Given the description of an element on the screen output the (x, y) to click on. 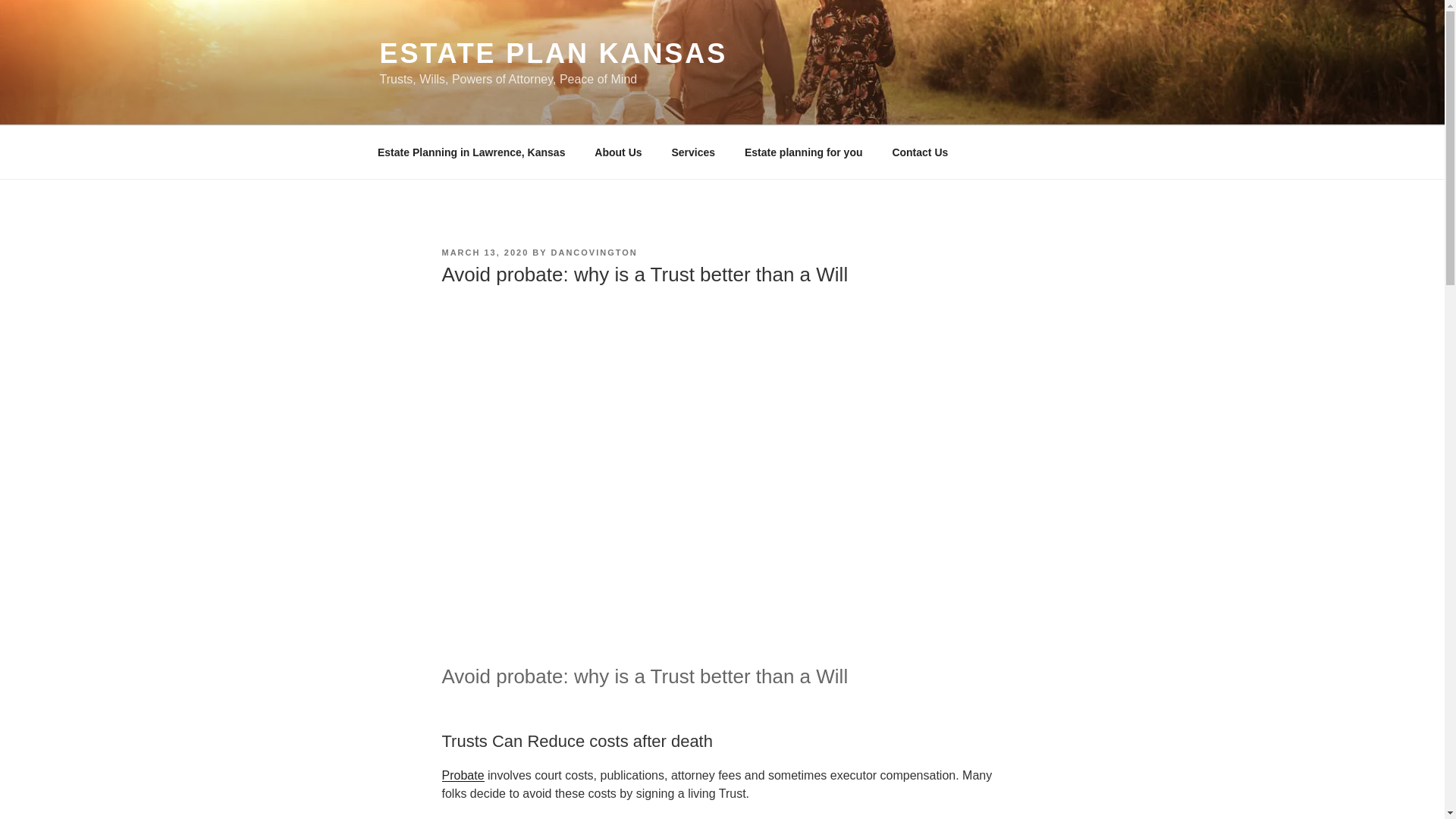
Services (693, 151)
ESTATE PLAN KANSAS (552, 52)
Estate Planning in Lawrence, Kansas (471, 151)
Estate planning for you (803, 151)
Contact Us (919, 151)
Probate (462, 775)
DANCOVINGTON (594, 252)
About Us (617, 151)
MARCH 13, 2020 (484, 252)
